Given the description of an element on the screen output the (x, y) to click on. 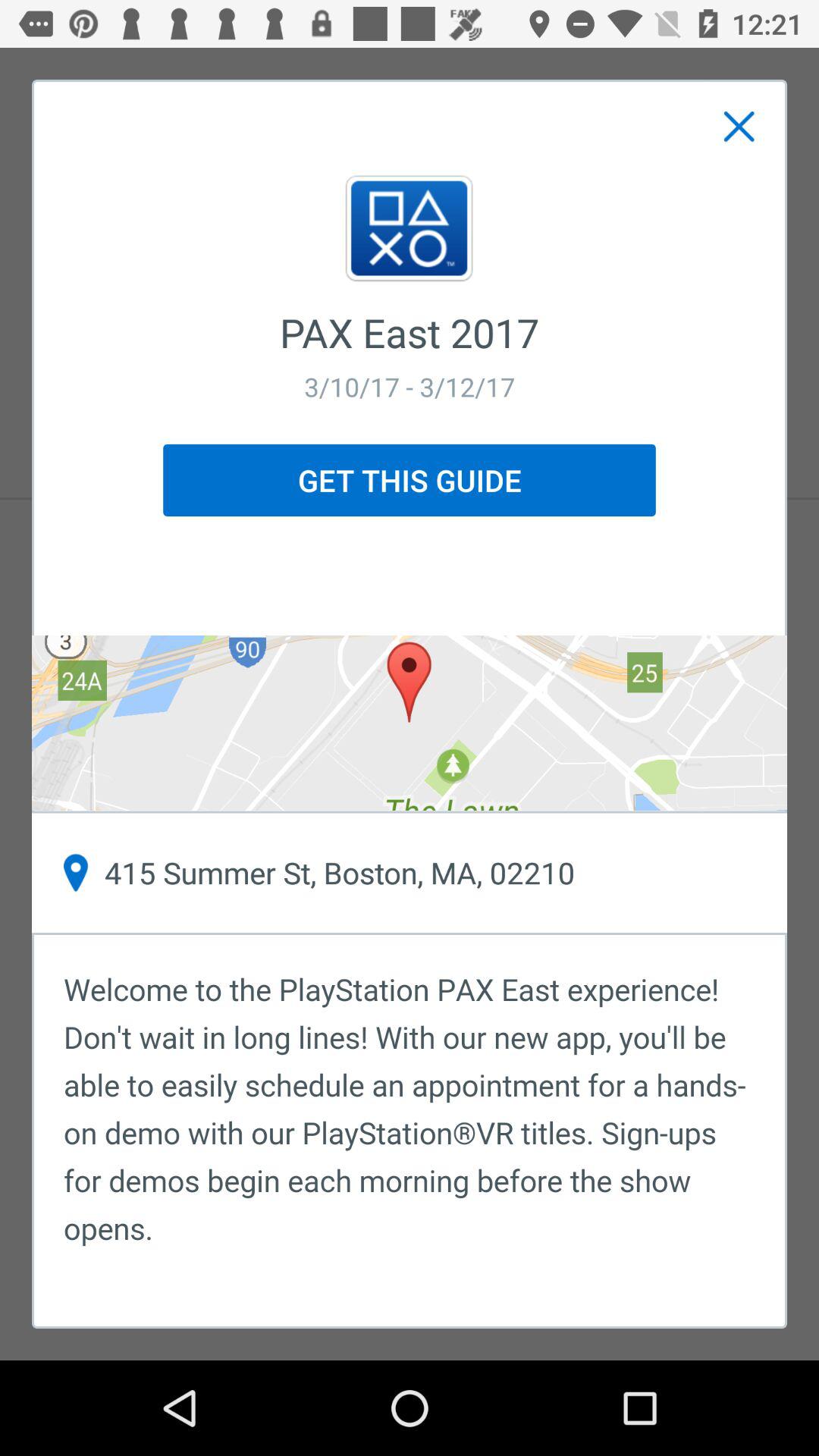
click the item at the top right corner (739, 126)
